Given the description of an element on the screen output the (x, y) to click on. 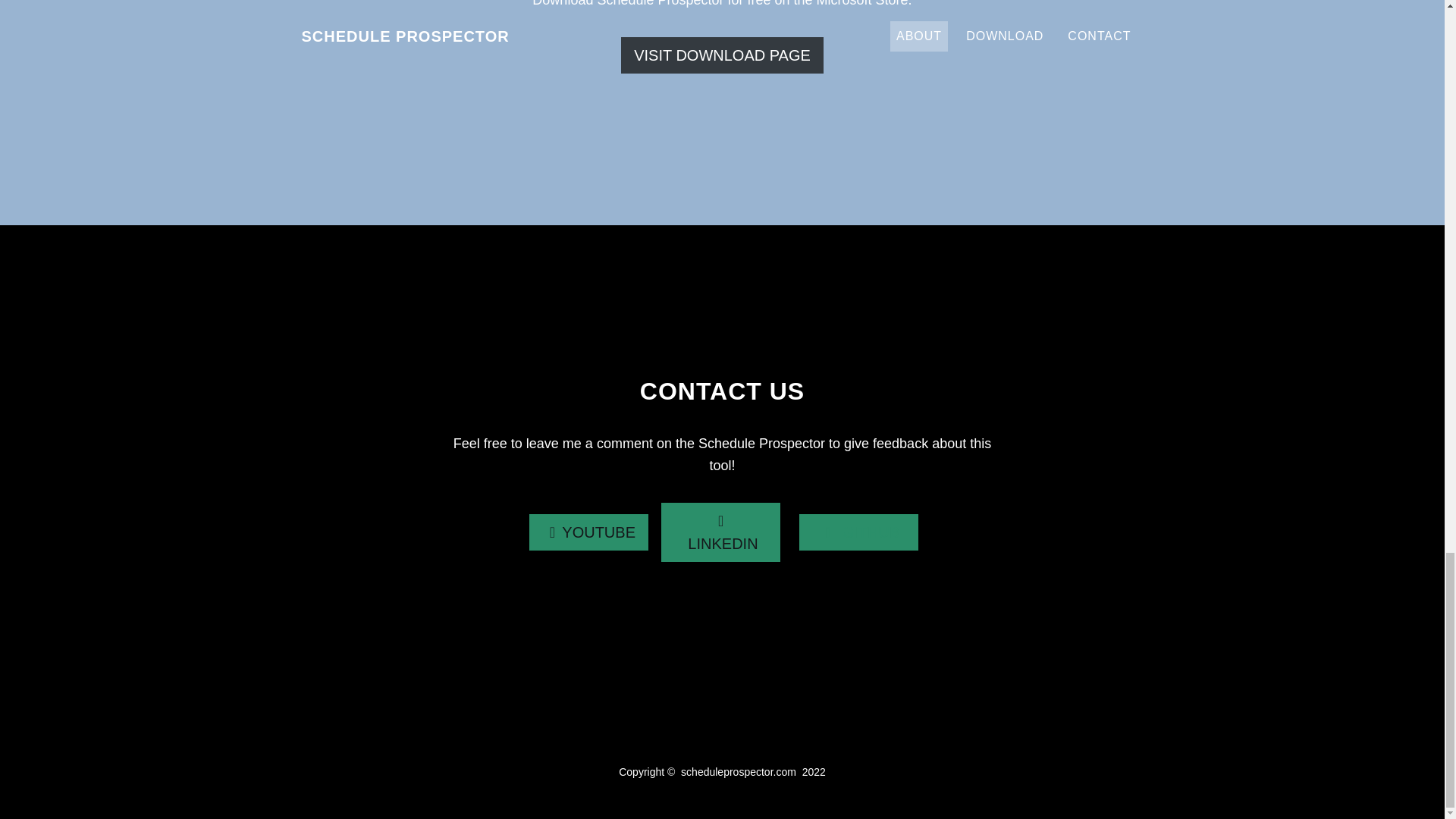
 GITHUB (858, 531)
 LINKEDIN (720, 531)
  LINKEDIN (719, 531)
YOUTUBE (588, 532)
 YOUTUBE (586, 532)
 GITHUB (858, 532)
VISIT DOWNLOAD PAGE (722, 54)
